Given the description of an element on the screen output the (x, y) to click on. 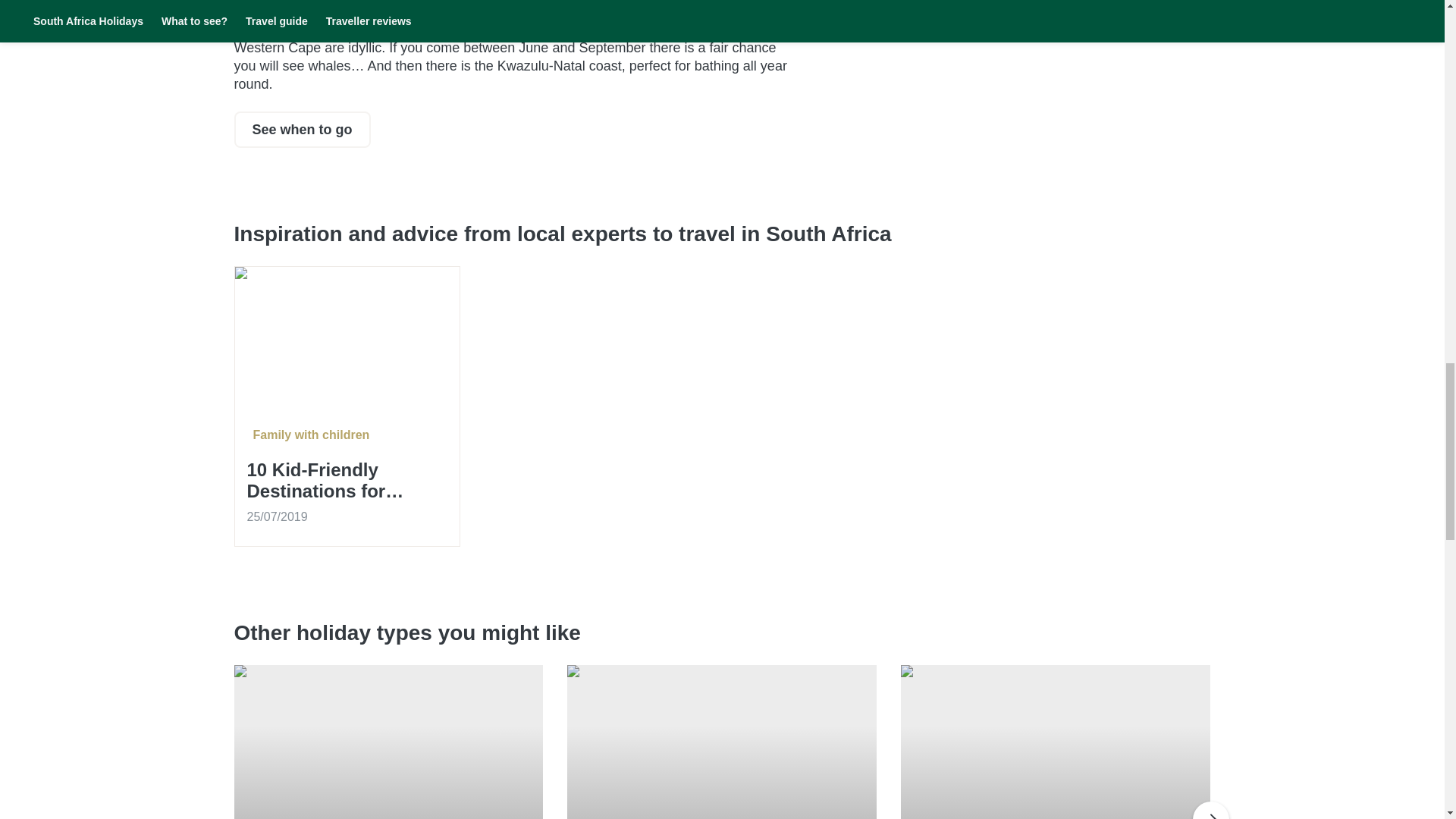
When to go in South Africa? (300, 129)
One week in South Africa (1055, 742)
10 Kid-Friendly Destinations for Spotting Wildlife (346, 480)
See when to go (300, 129)
Honeymoon in South Africa (387, 742)
Two weeks in South Africa (721, 742)
